Given the description of an element on the screen output the (x, y) to click on. 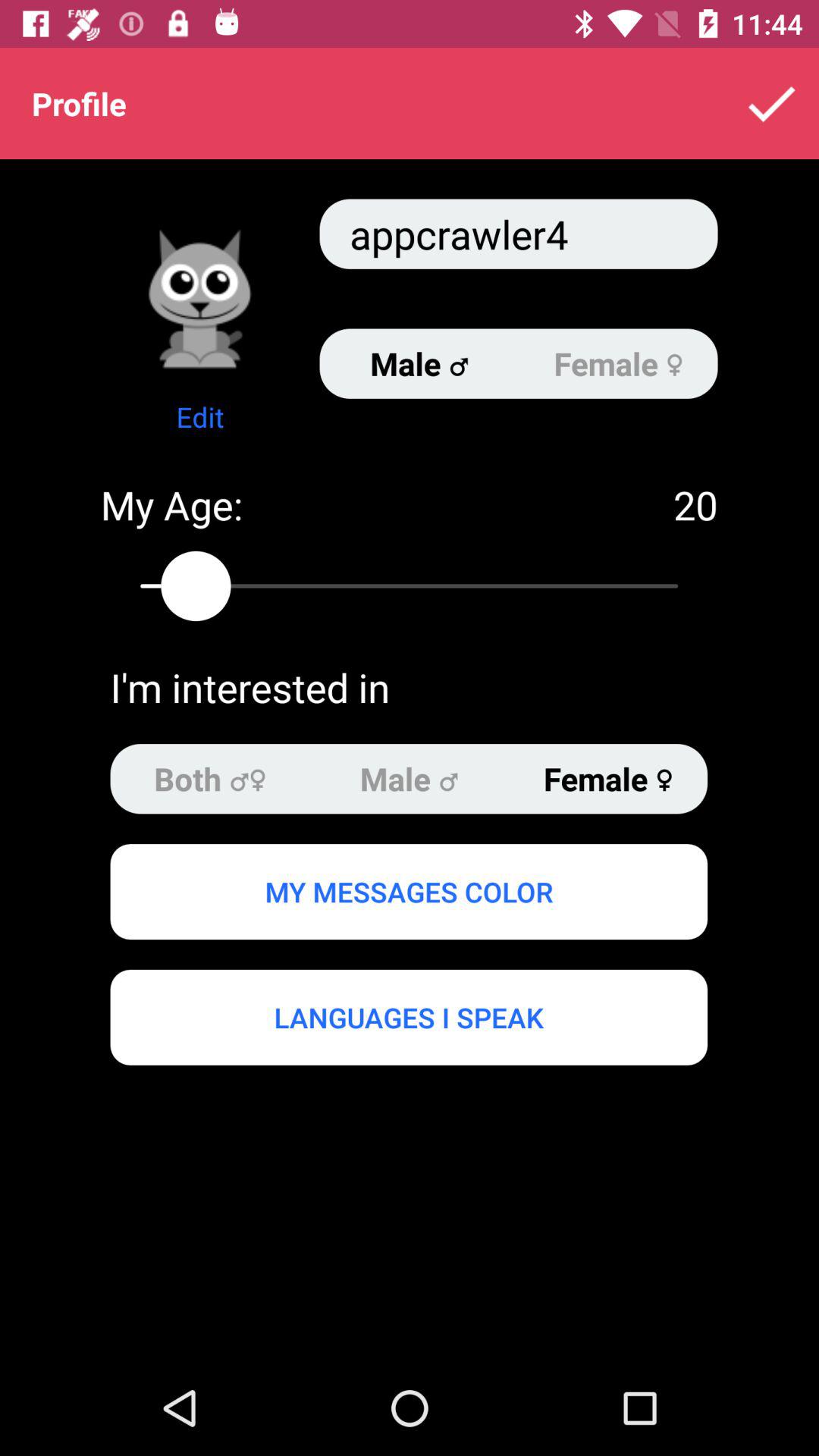
flip until the my messages color icon (408, 891)
